Given the description of an element on the screen output the (x, y) to click on. 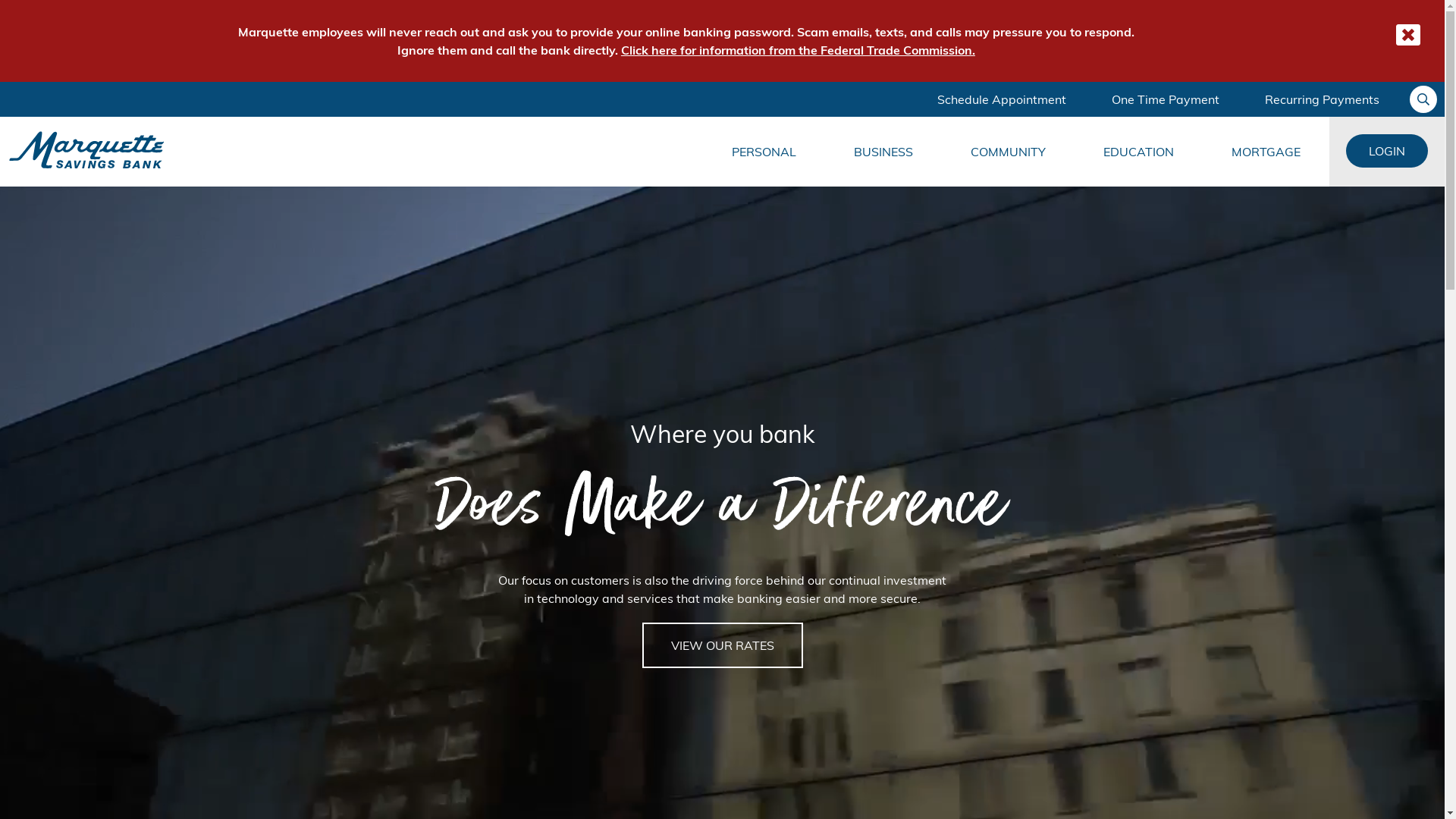
PERSONAL Element type: text (763, 151)
VIEW OUR RATES Element type: text (721, 645)
Close Important Global Message Element type: hover (1408, 34)
EDUCATION Element type: text (1138, 151)
LOGIN Element type: text (1386, 150)
Schedule Appointment Element type: text (1001, 98)
COMMUNITY Element type: text (1008, 151)
Recurring Payments Element type: text (1322, 98)
BUSINESS Element type: text (883, 151)
MORTGAGE Element type: text (1265, 151)
One Time Payment Element type: text (1165, 98)
